Given the description of an element on the screen output the (x, y) to click on. 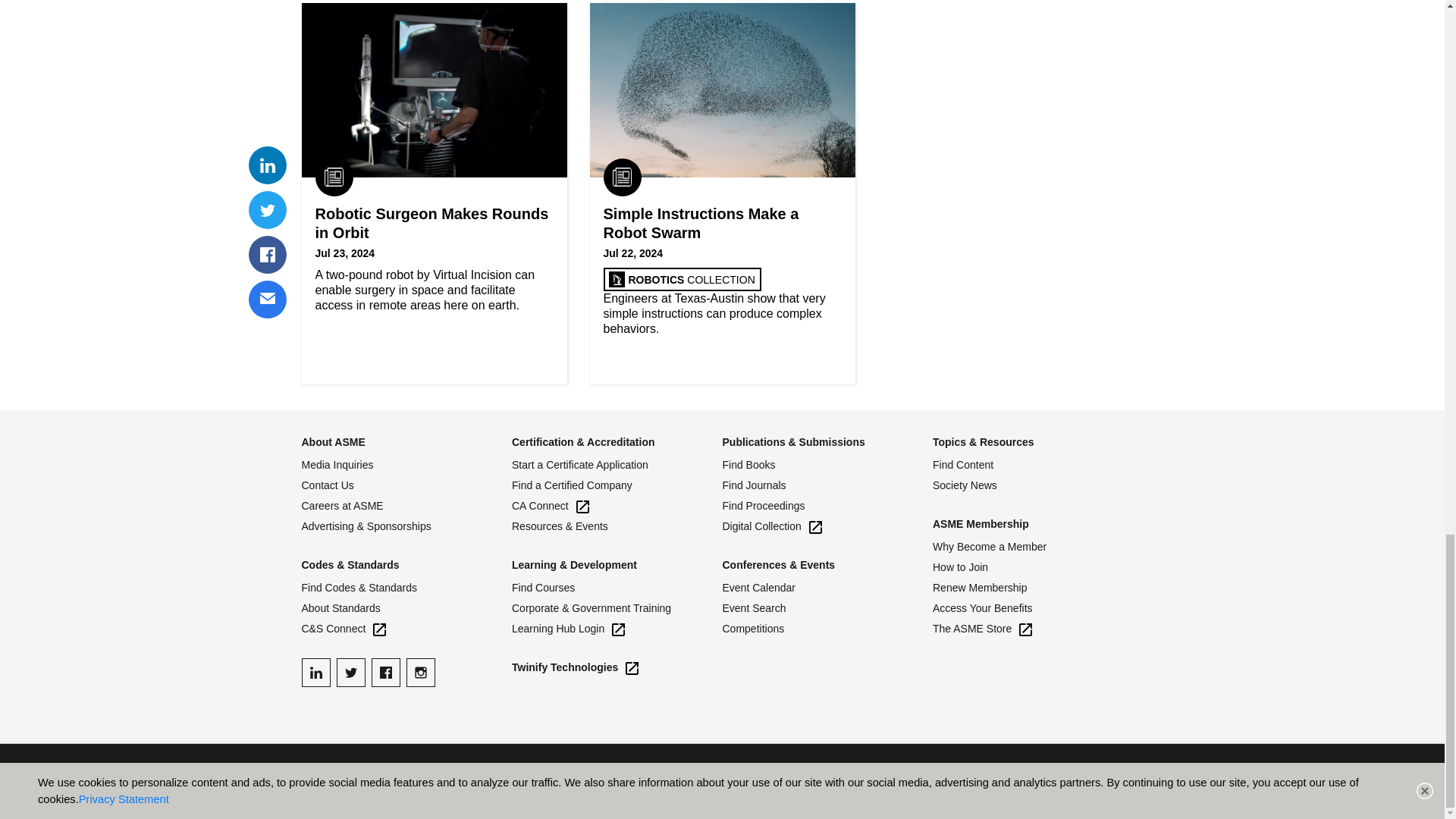
Contact Us (406, 485)
ASME on LinkedIn (315, 672)
Careers at ASME (406, 505)
About ASME (333, 441)
Media Inquiries (406, 464)
ASME on Instagram (420, 672)
ASME on Twitter (350, 672)
ASME on Facebook (385, 672)
